Given the description of an element on the screen output the (x, y) to click on. 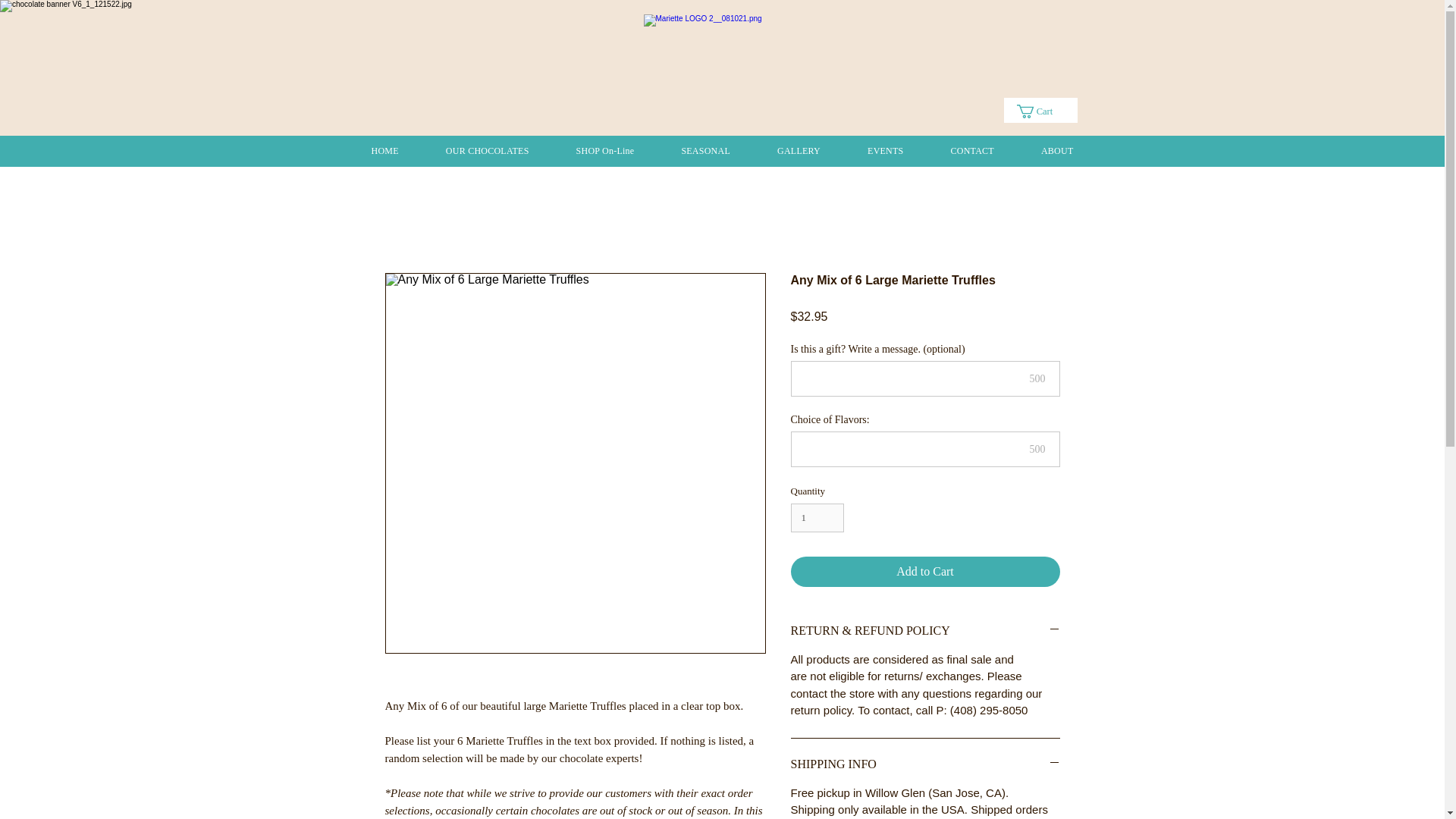
GALLERY (799, 151)
Cart (1040, 110)
Cart (1040, 110)
EVENTS (885, 151)
ABOUT (1057, 151)
1 (817, 517)
SHIPPING INFO (924, 764)
OUR CHOCOLATES (487, 151)
HOME (384, 151)
CONTACT (972, 151)
SHOP On-Line (605, 151)
Add to Cart (924, 571)
